Given the description of an element on the screen output the (x, y) to click on. 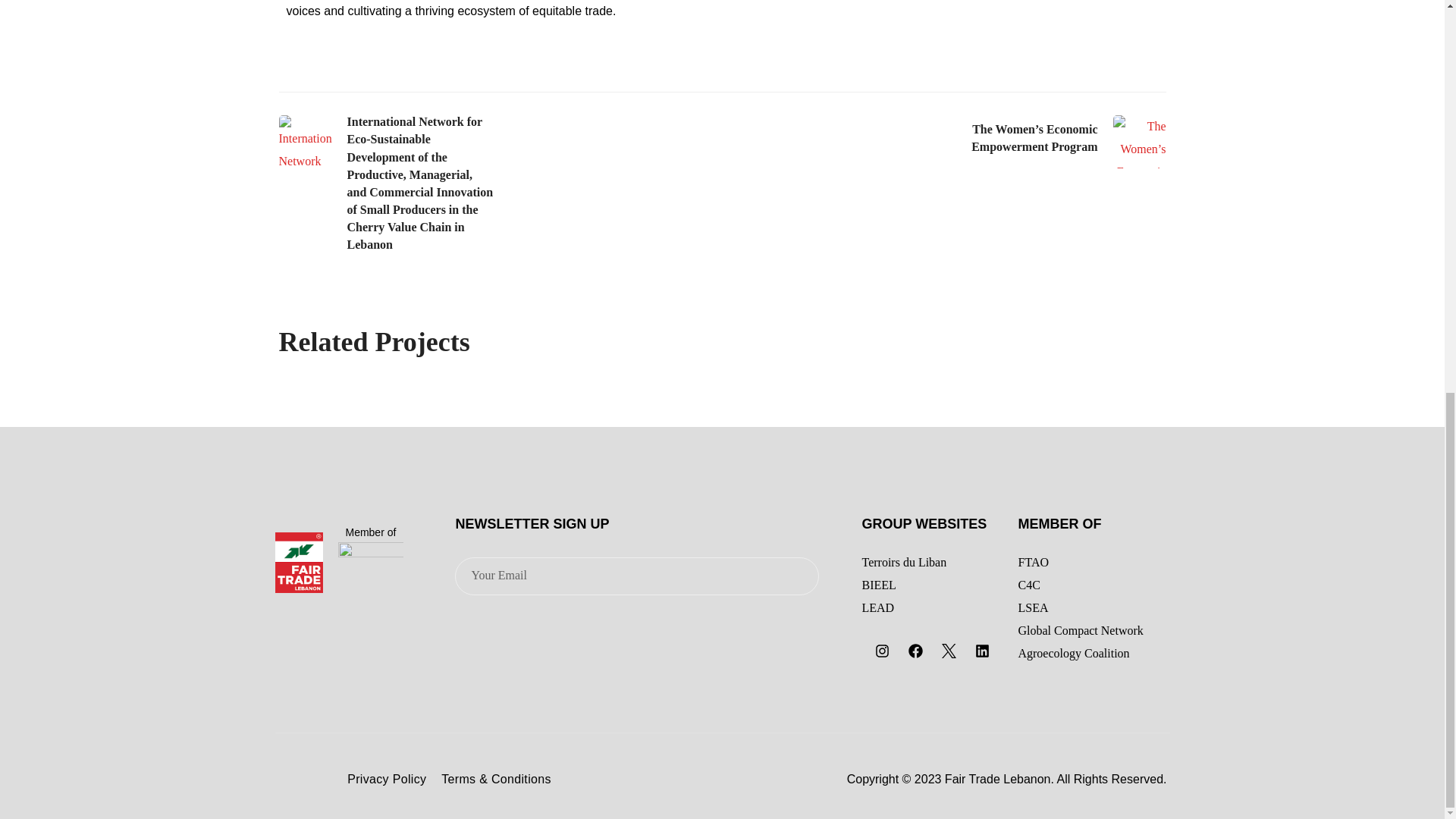
SUBSCRIBE (761, 578)
Facebook (914, 651)
Twitter (948, 651)
Instagram (881, 651)
Linkedin (981, 651)
